Given the description of an element on the screen output the (x, y) to click on. 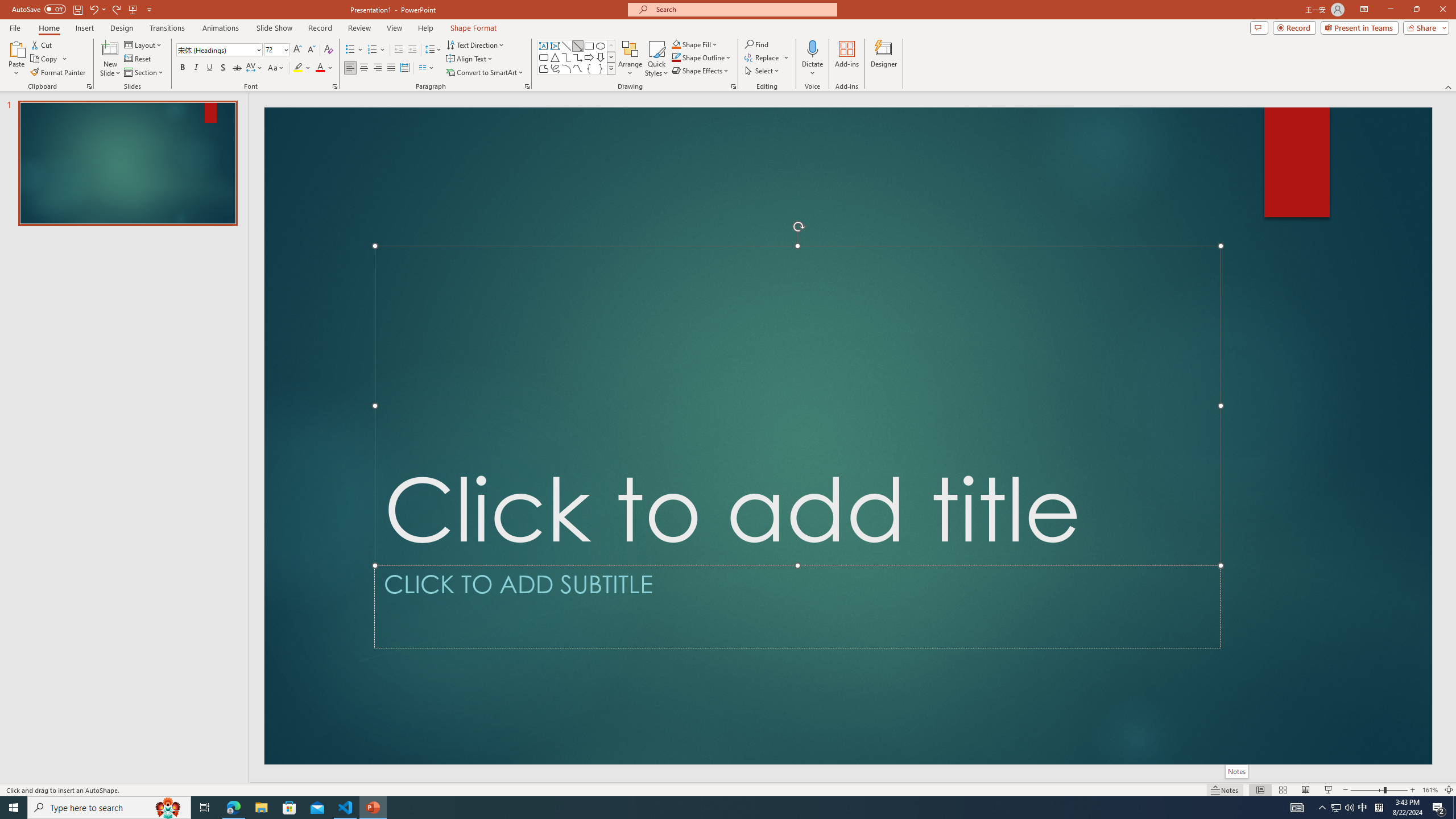
Notes (1235, 771)
